Given the description of an element on the screen output the (x, y) to click on. 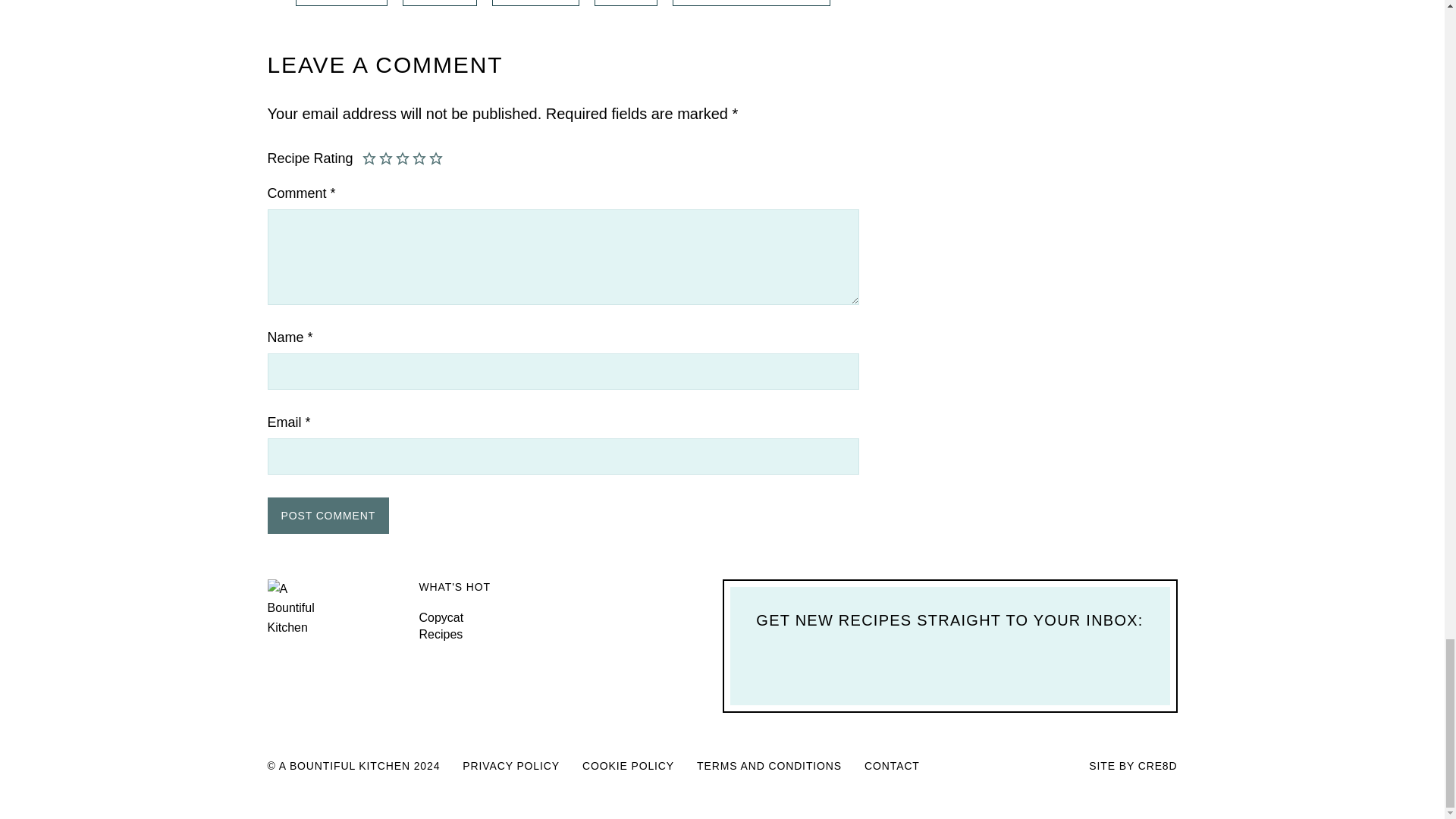
Post Comment (327, 514)
